Given the description of an element on the screen output the (x, y) to click on. 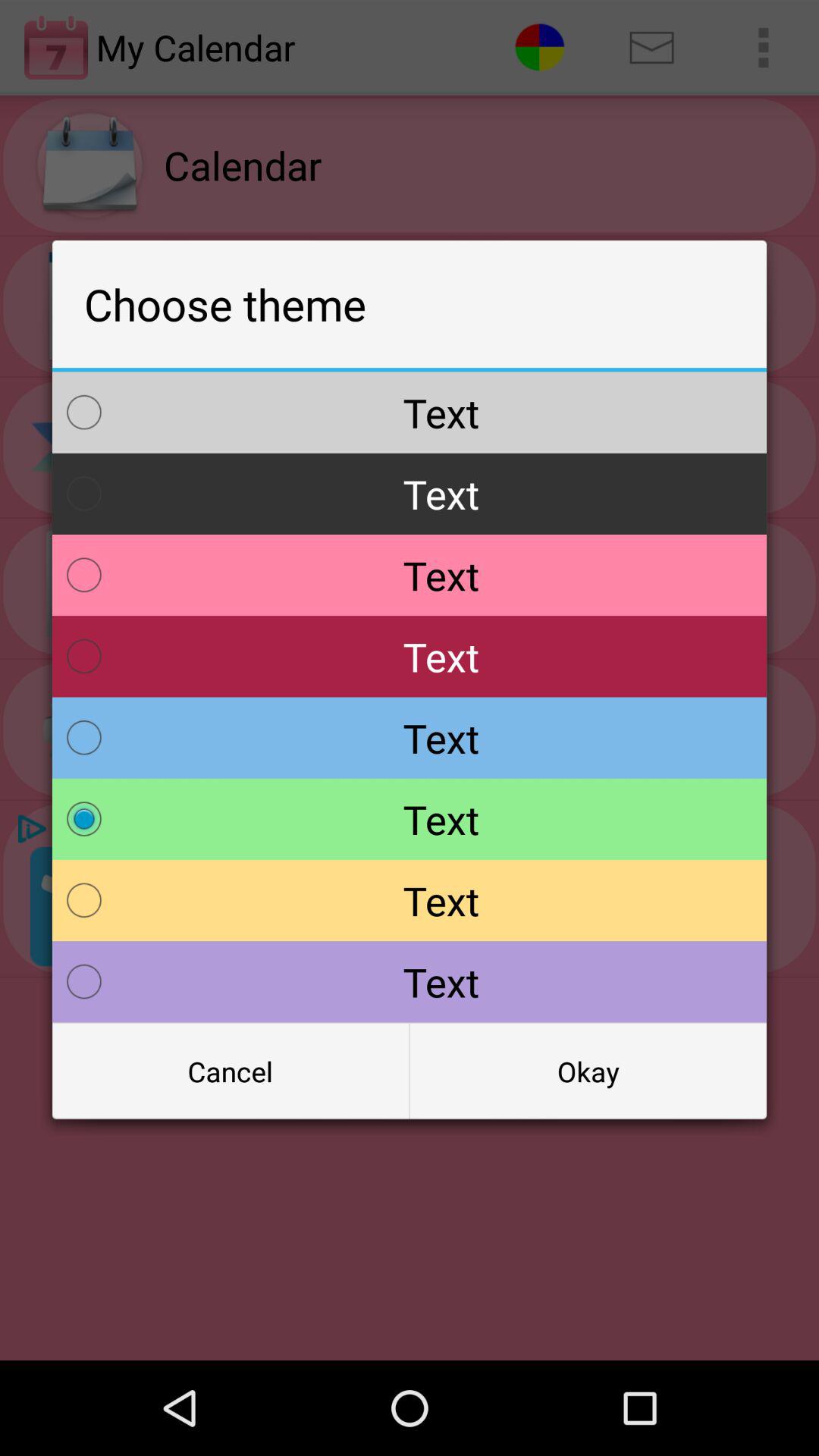
tap item at the bottom right corner (588, 1071)
